Given the description of an element on the screen output the (x, y) to click on. 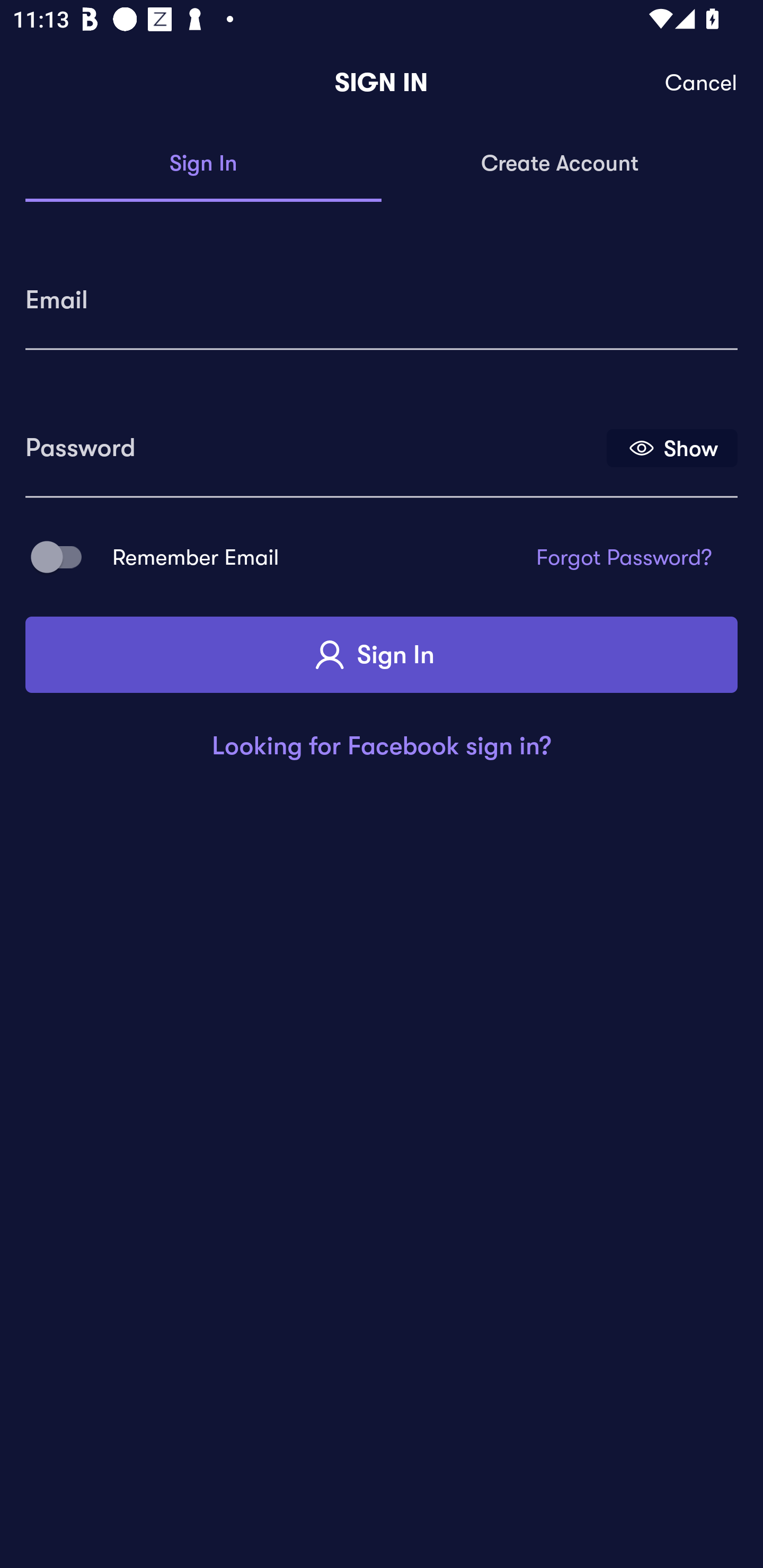
Cancel (701, 82)
Sign In (203, 164)
Create Account (559, 164)
Email (381, 293)
Password (314, 441)
Show Password Show (671, 447)
Remember Email (62, 557)
Sign In (381, 654)
